Given the description of an element on the screen output the (x, y) to click on. 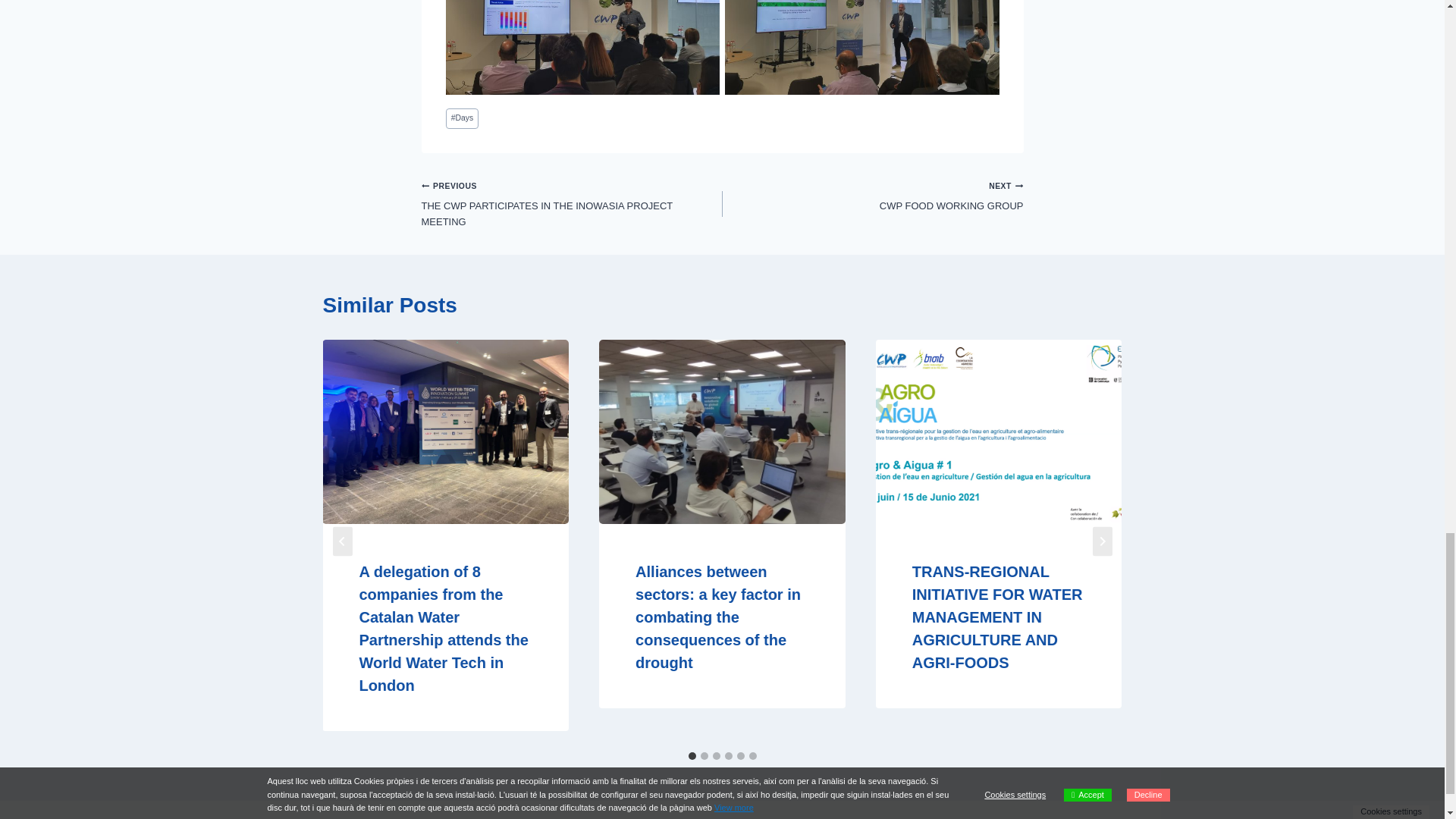
Days (872, 196)
